Given the description of an element on the screen output the (x, y) to click on. 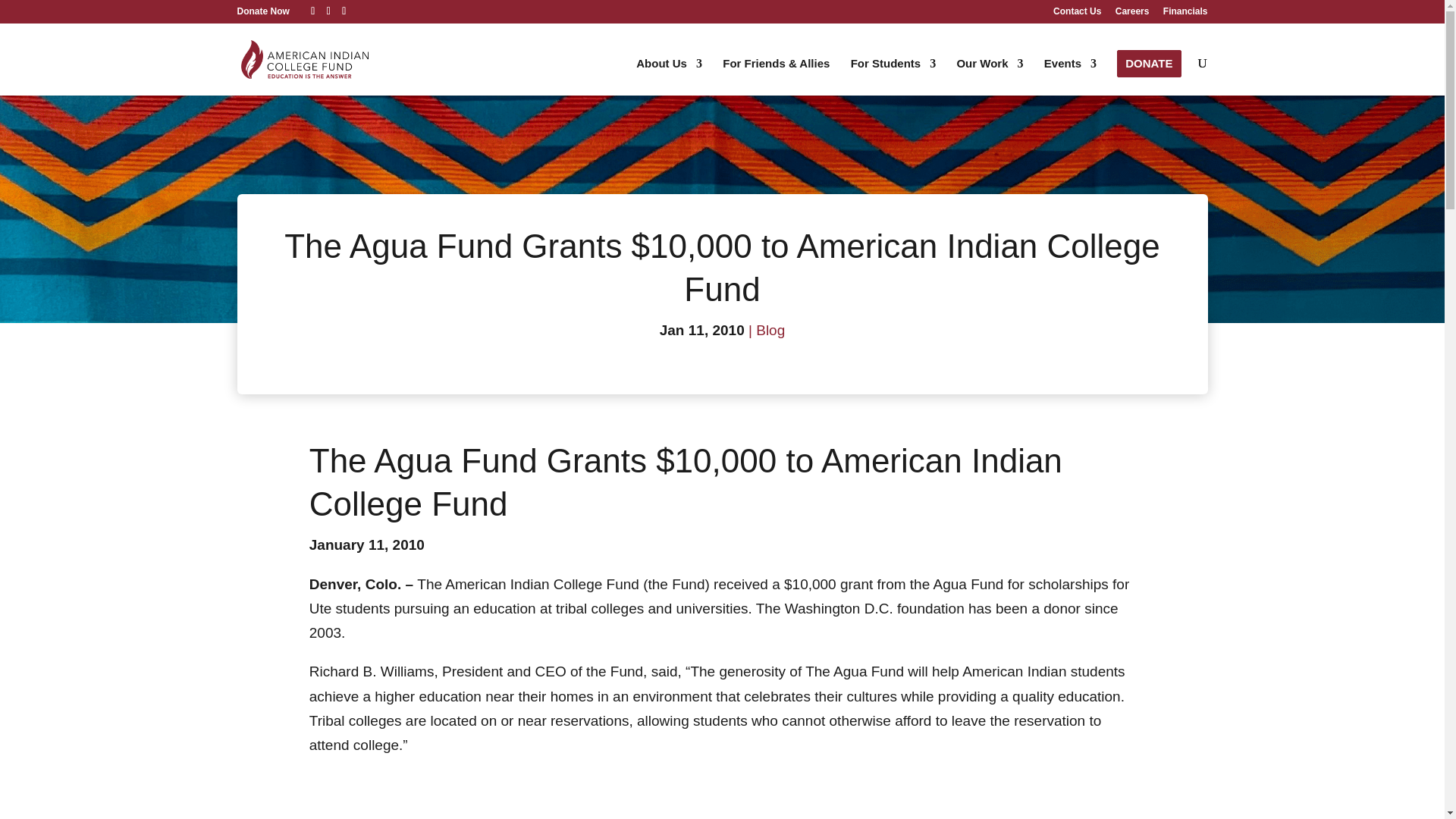
Contact Us (1076, 14)
Donate Now (261, 10)
Our Work (989, 76)
Events (1069, 76)
About Us (668, 76)
Financials (1185, 14)
Careers (1132, 14)
For Students (893, 76)
DONATE (1148, 62)
